Given the description of an element on the screen output the (x, y) to click on. 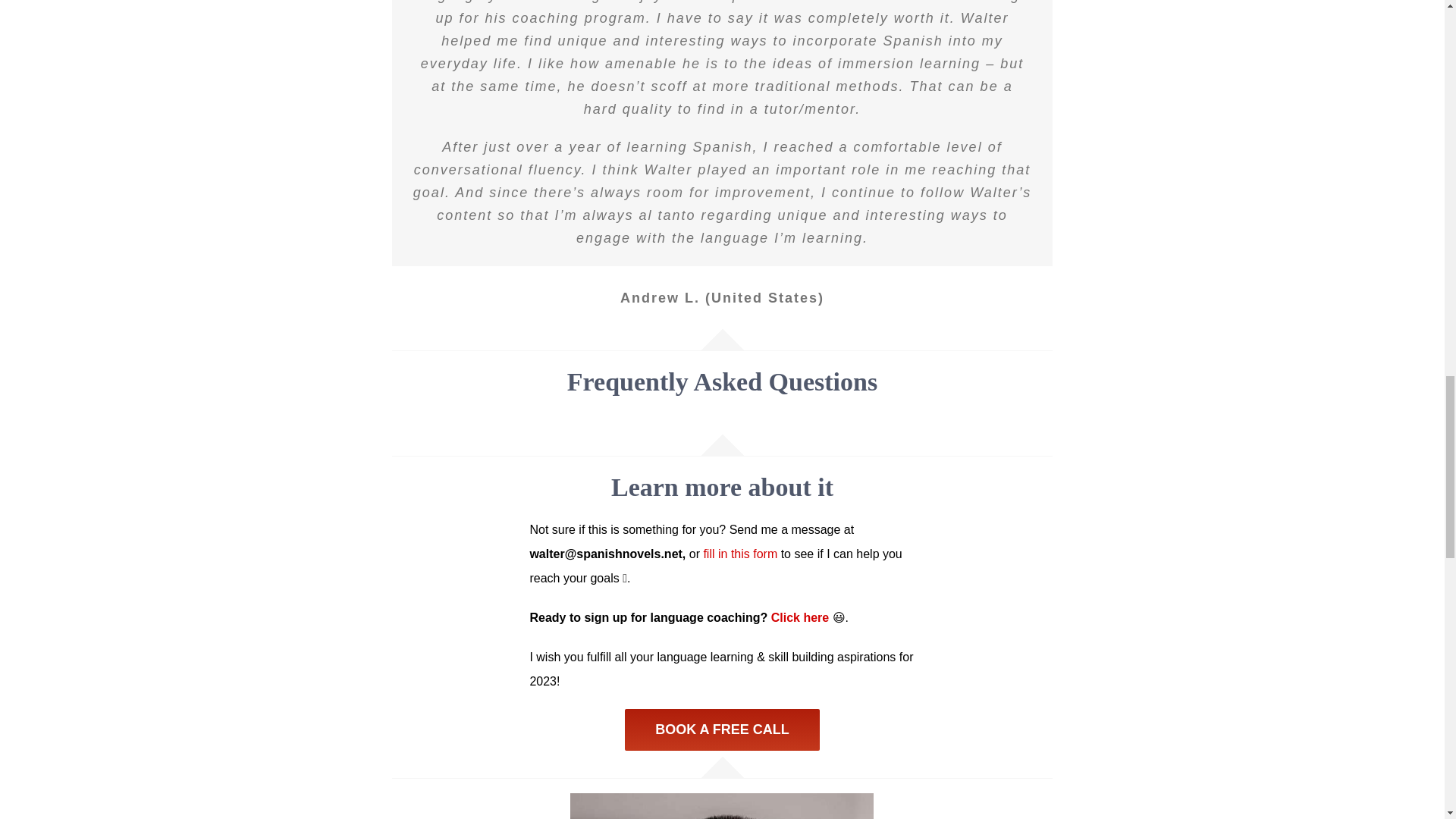
Frequently Asked Questions (722, 417)
